Given the description of an element on the screen output the (x, y) to click on. 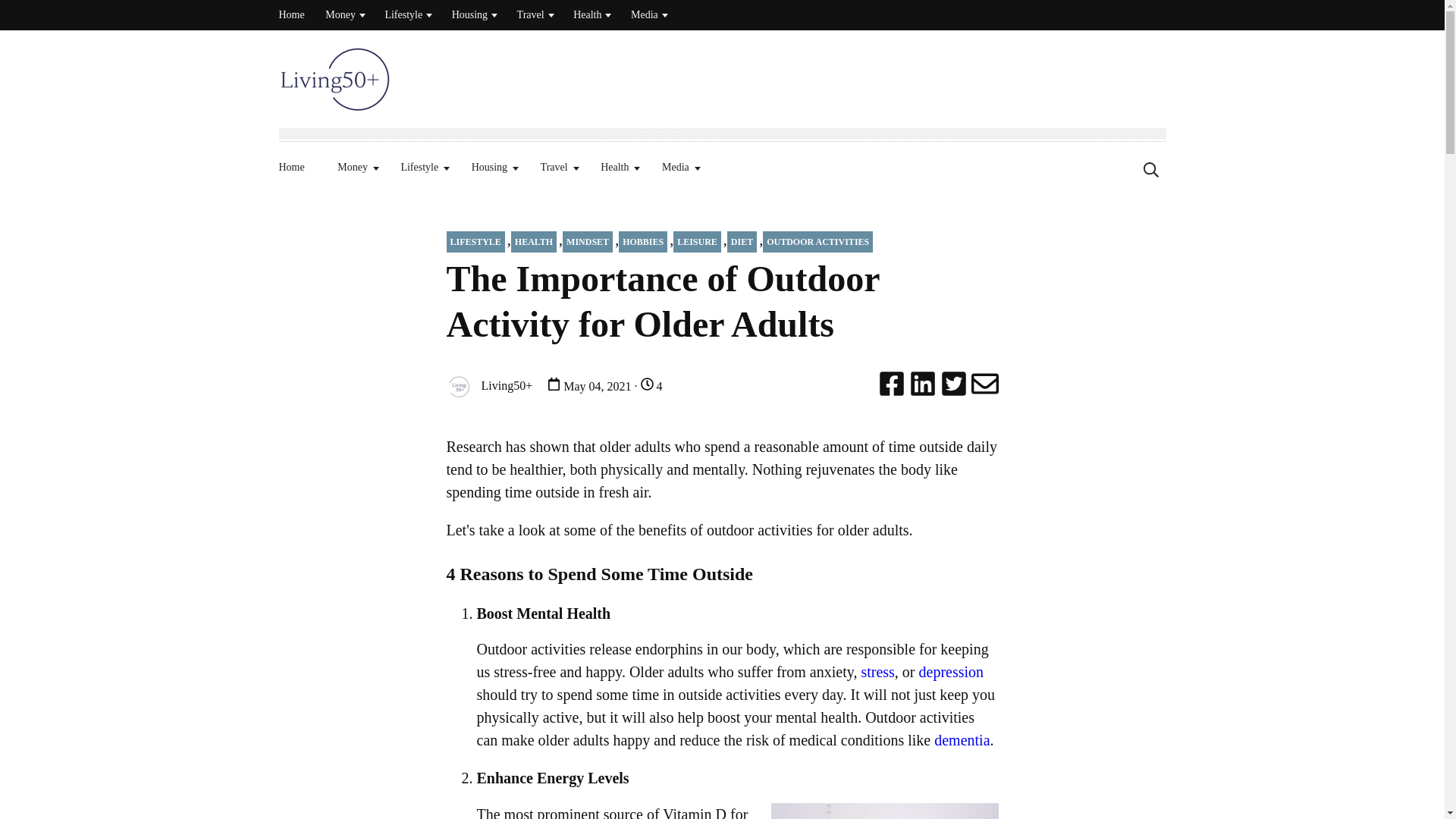
Home (291, 14)
Reading time (646, 383)
Housing (469, 14)
Money (339, 14)
calendar icon (553, 383)
Travel (530, 14)
Health (587, 14)
Lifestyle (403, 14)
